Given the description of an element on the screen output the (x, y) to click on. 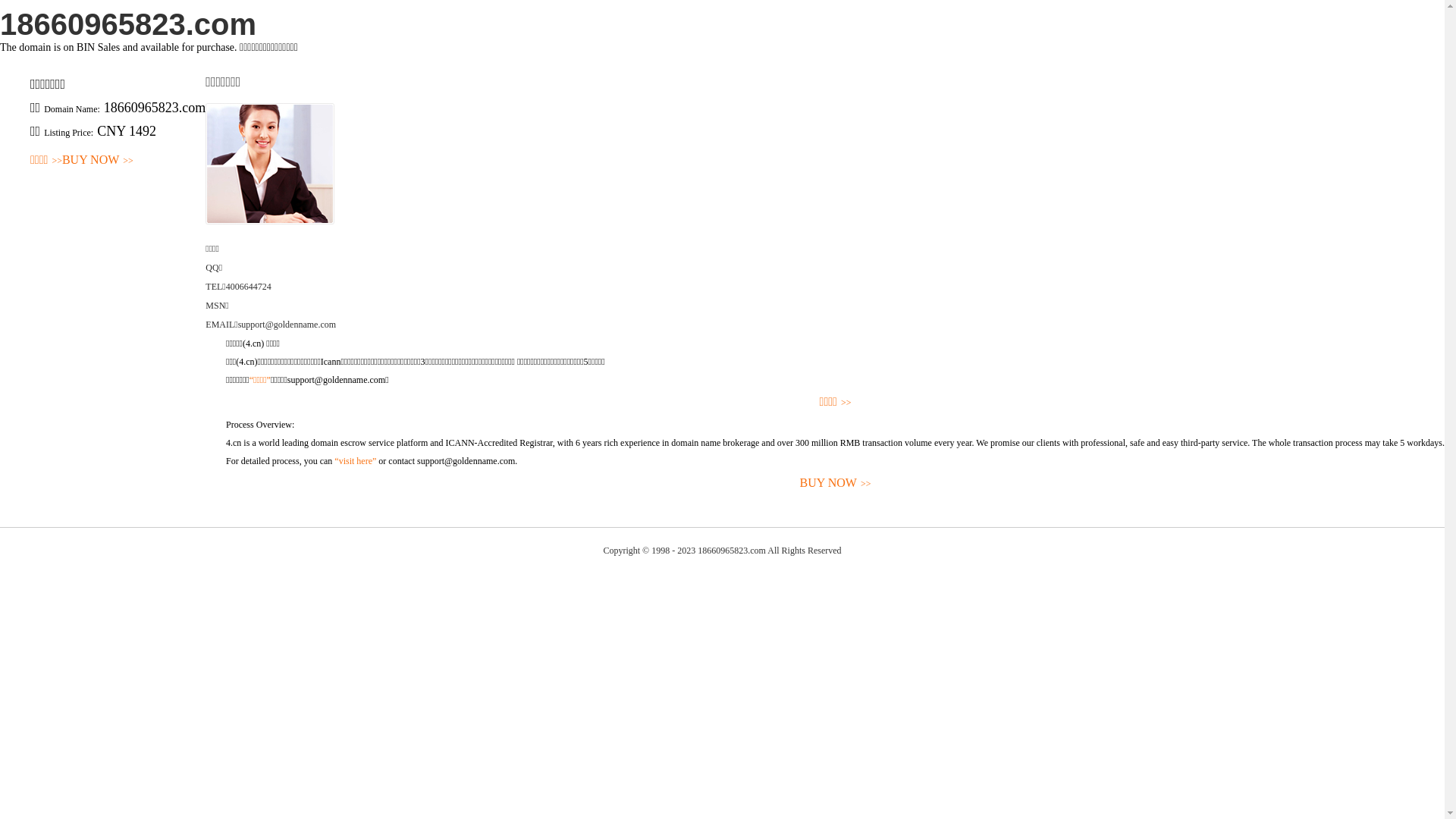
BUY NOW>> Element type: text (834, 483)
BUY NOW>> Element type: text (97, 160)
